Given the description of an element on the screen output the (x, y) to click on. 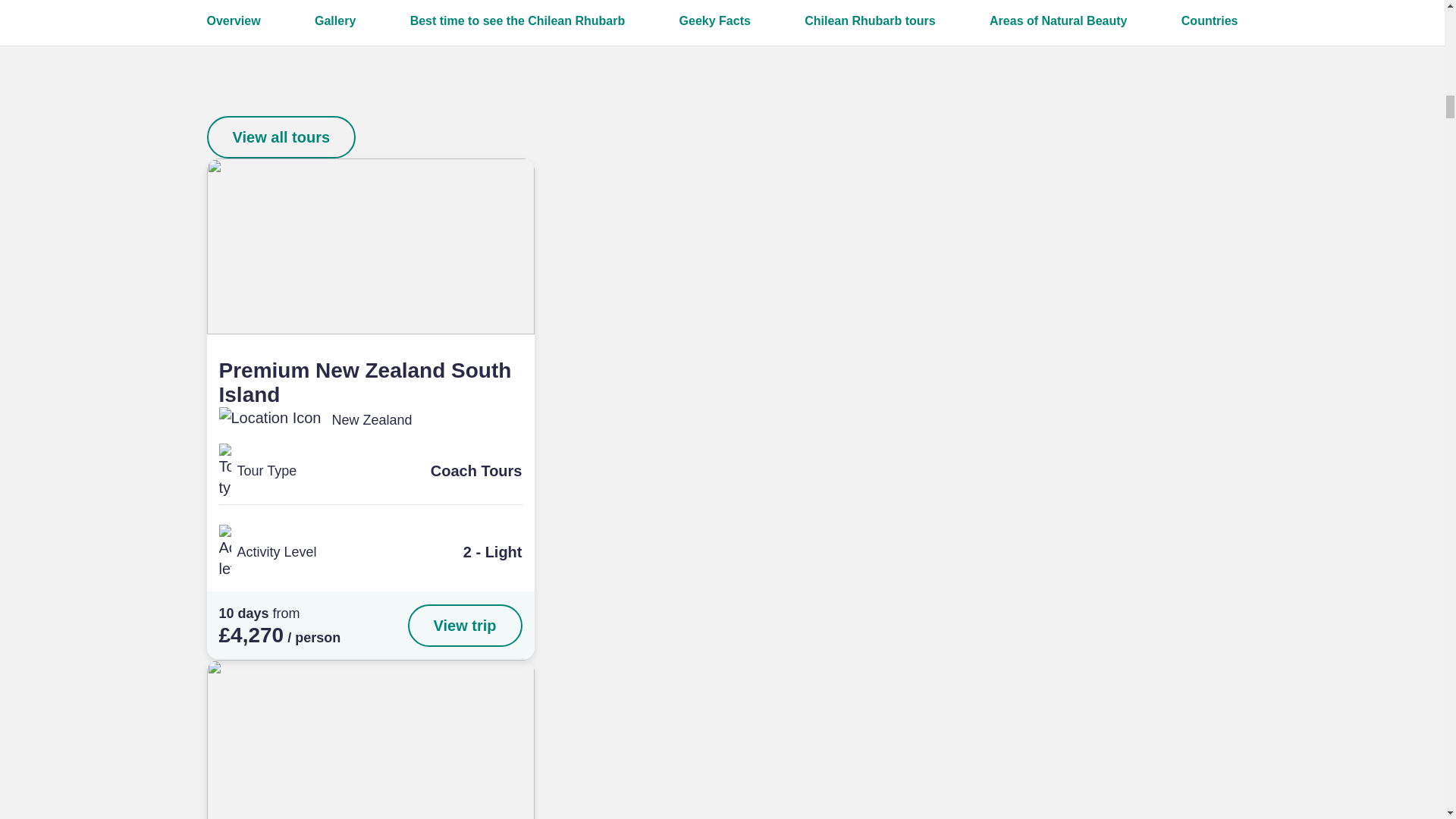
View trip (464, 625)
View all tours (280, 137)
